Given the description of an element on the screen output the (x, y) to click on. 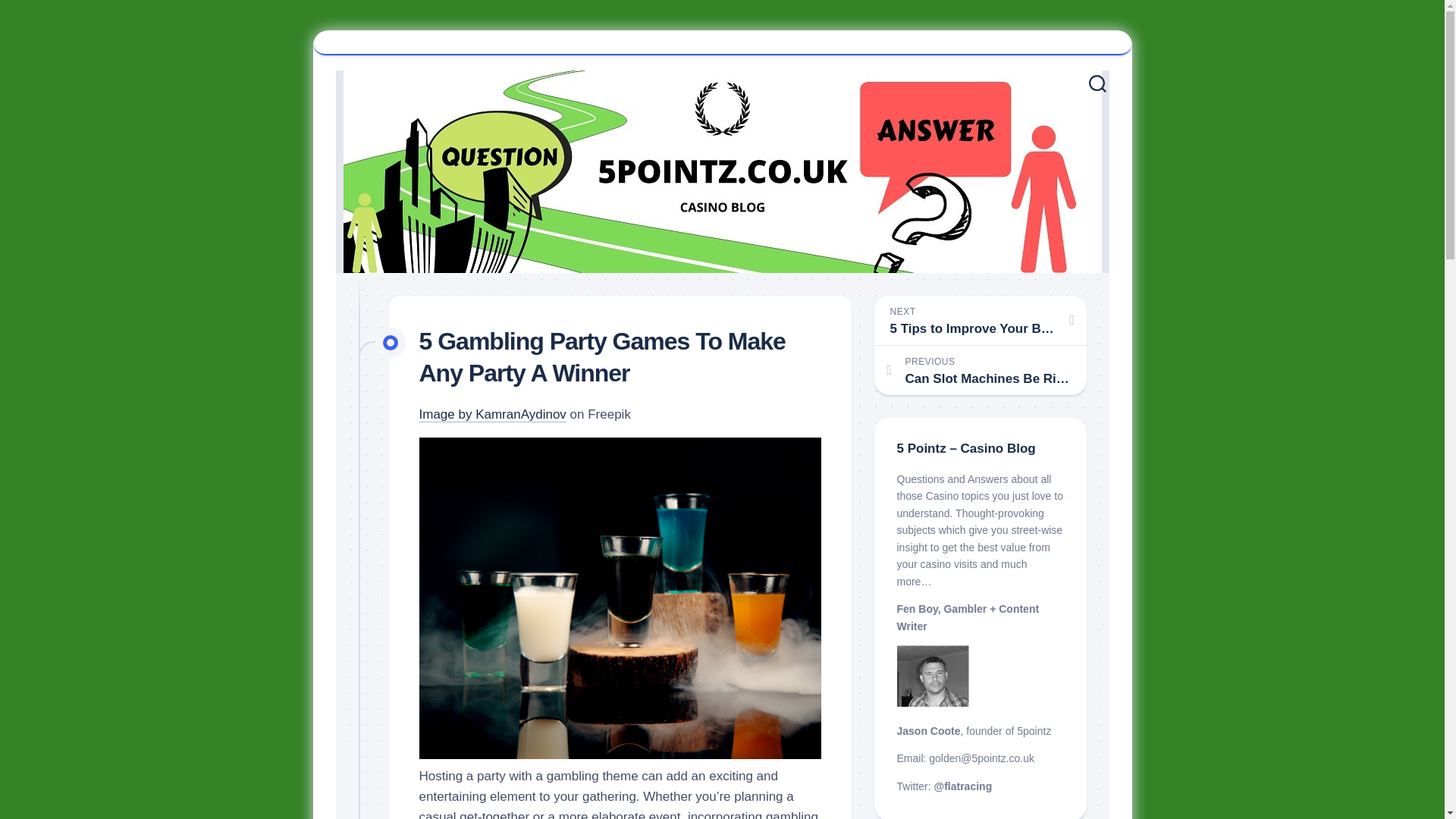
Image by KamranAydinov (979, 319)
